Given the description of an element on the screen output the (x, y) to click on. 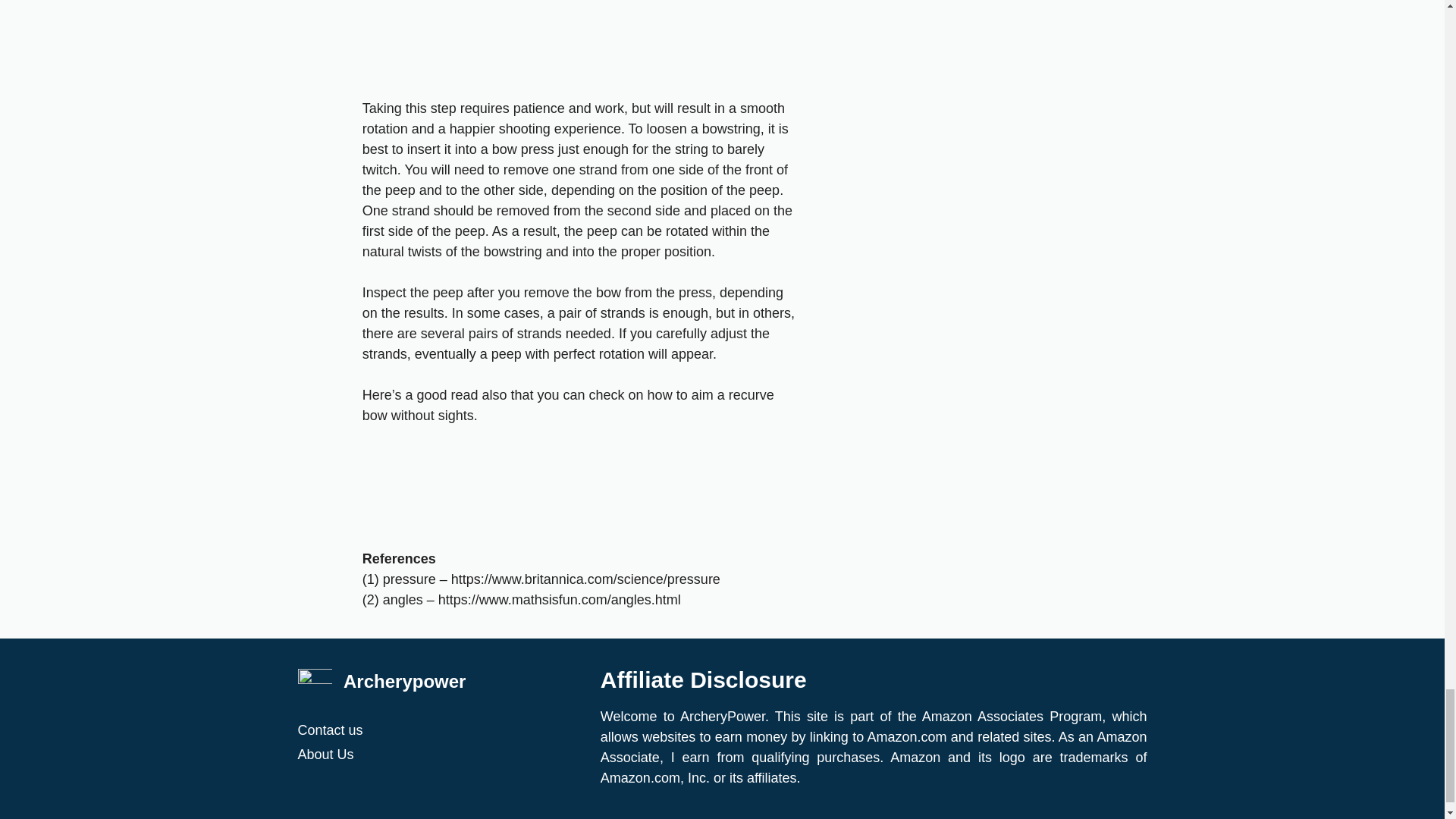
About Us (441, 754)
Archerypower (404, 680)
Contact us (441, 730)
how to aim a recurve bow without sights (568, 405)
